Given the description of an element on the screen output the (x, y) to click on. 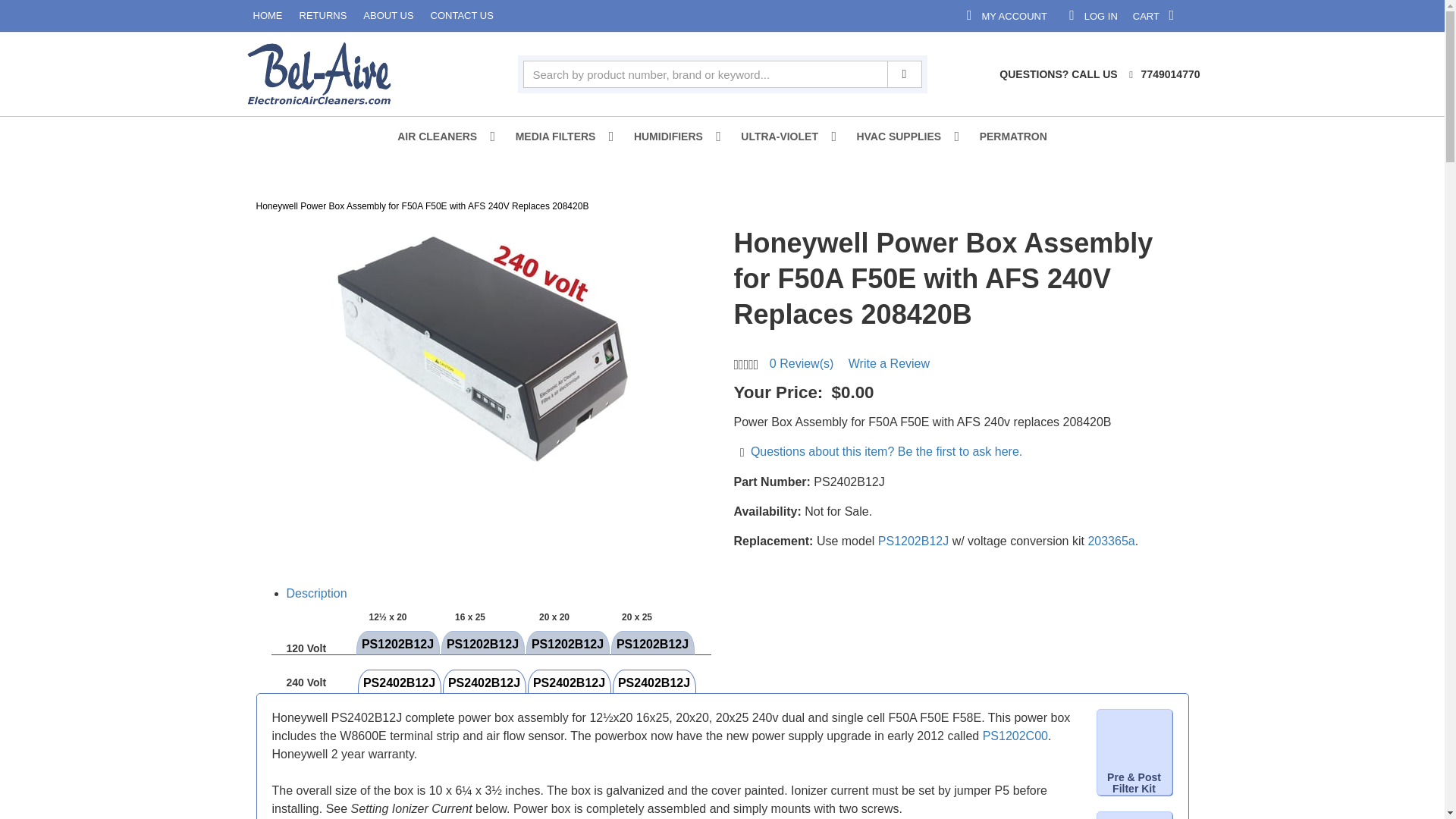
HVAC SUPPLIES (902, 136)
CONTACT US (196, 15)
MEDIA FILTERS (559, 136)
ABOUT US (69, 15)
HUMIDIFIERS (1388, 15)
7749014770 (1178, 15)
ULTRA-VIOLET (671, 136)
AIR CLEANERS (1291, 15)
